Given the description of an element on the screen output the (x, y) to click on. 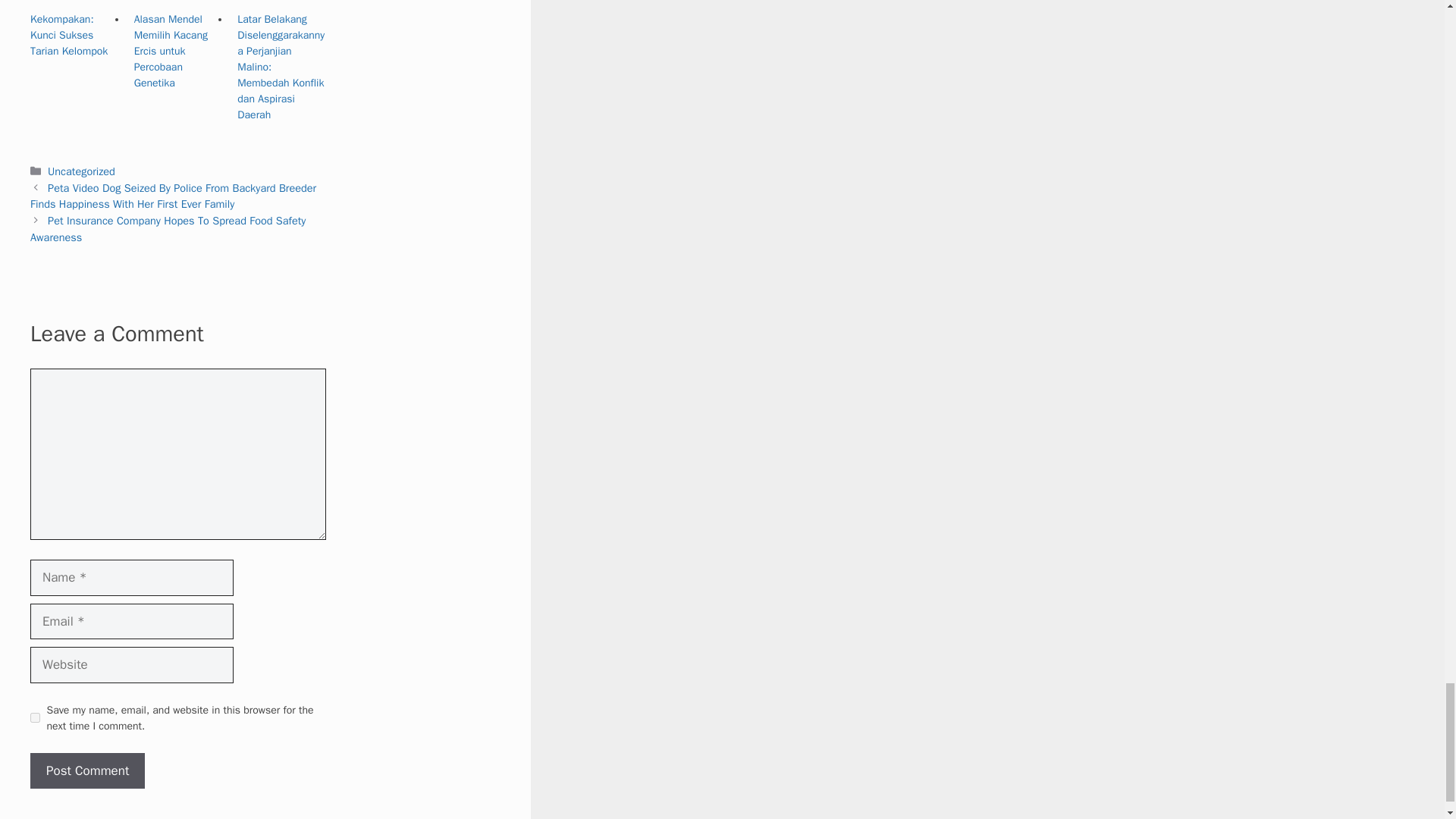
Post Comment (87, 770)
Kekompakan: Kunci Sukses Tarian Kelompok (68, 35)
yes (35, 717)
Uncategorized (81, 171)
Post Comment (87, 770)
Alasan Mendel Memilih Kacang Ercis untuk Percobaan Genetika (170, 51)
Pet Insurance Company Hopes To Spread Food Safety Awareness (167, 228)
